Given the description of an element on the screen output the (x, y) to click on. 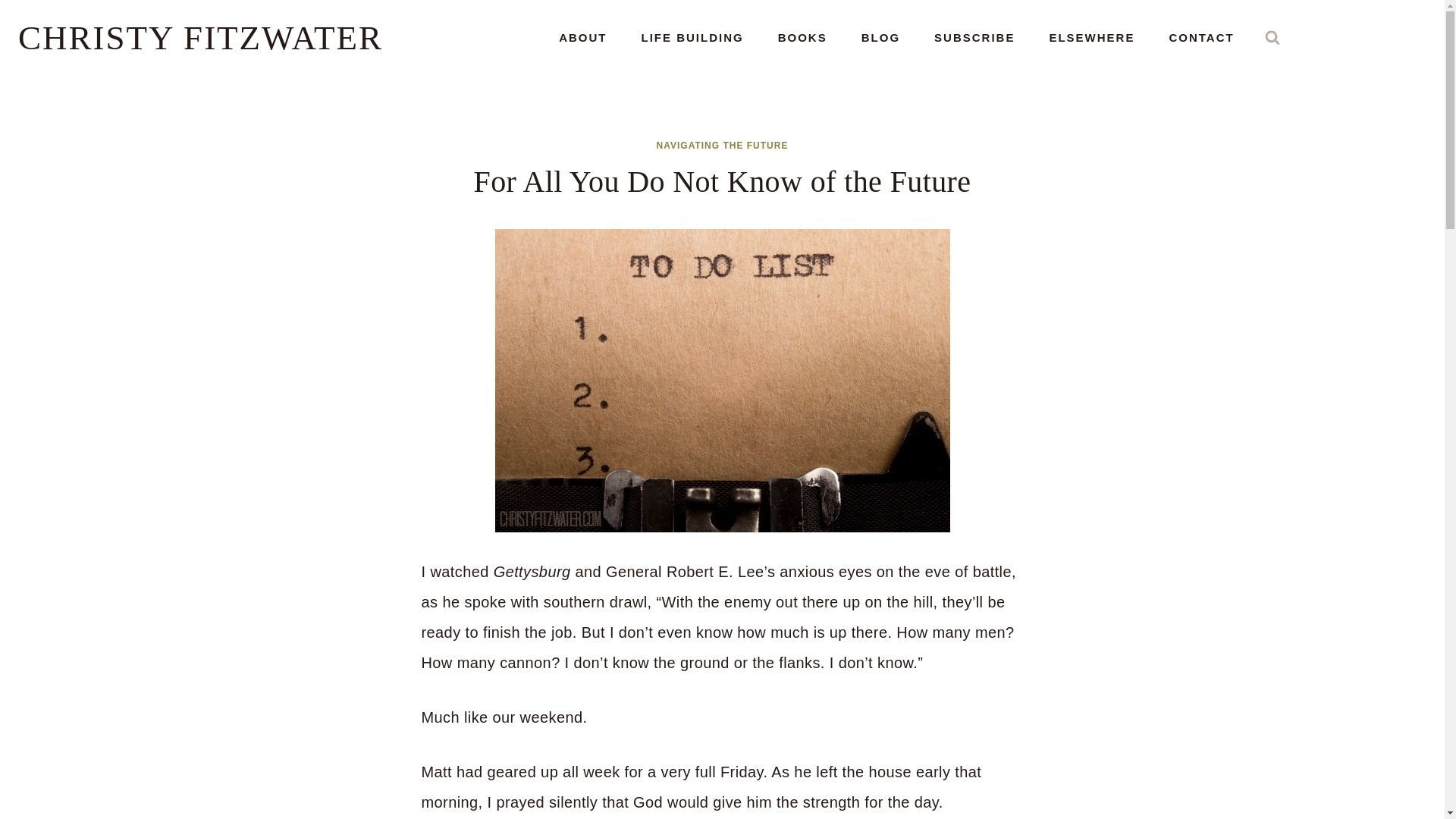
Twitter (1395, 37)
NAVIGATING THE FUTURE (722, 145)
BOOKS (802, 38)
Amazon (1301, 37)
CHRISTY FITZWATER (199, 37)
ELSEWHERE (1091, 38)
Facebook (1324, 37)
Pinterest (1371, 37)
CONTACT (1200, 38)
ABOUT (582, 38)
